Given the description of an element on the screen output the (x, y) to click on. 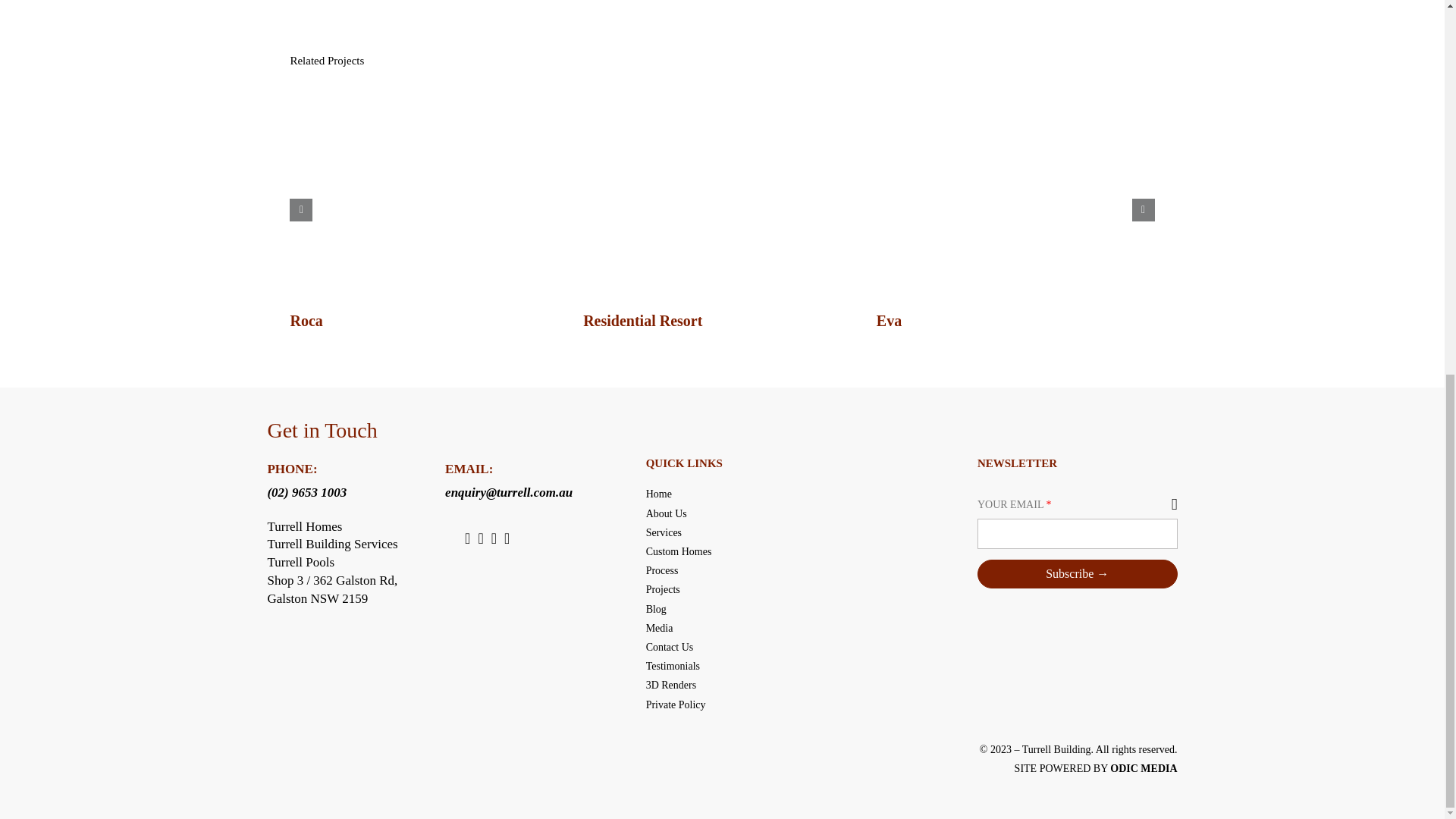
Roca (305, 320)
Residential Resort (642, 320)
Roca (305, 320)
Residential Resort (642, 320)
